Given the description of an element on the screen output the (x, y) to click on. 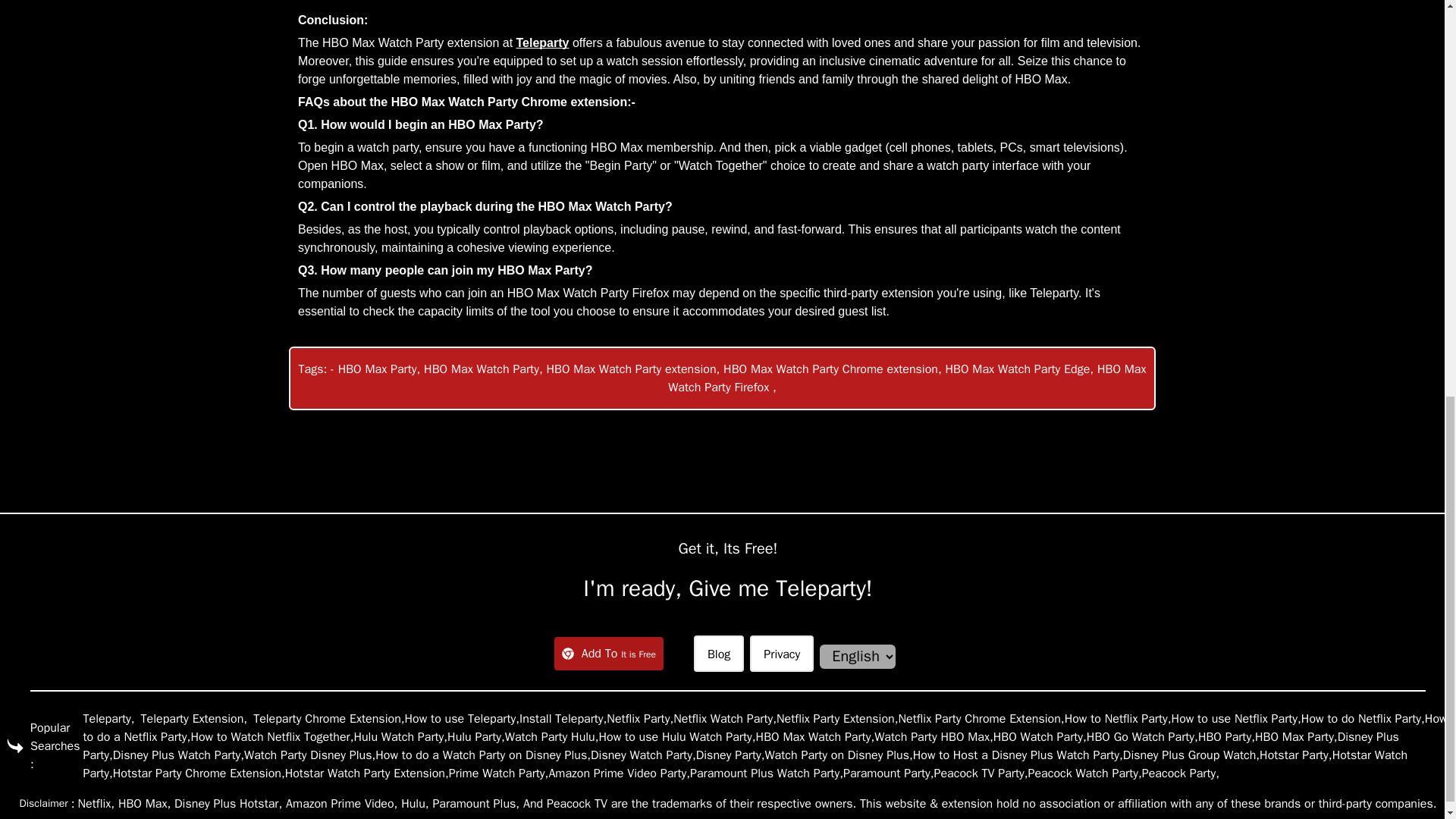
Teleparty (542, 43)
Privacy (781, 652)
Privacy (781, 652)
Blog (718, 652)
Blog (719, 652)
Add To It is Free (608, 652)
